Given the description of an element on the screen output the (x, y) to click on. 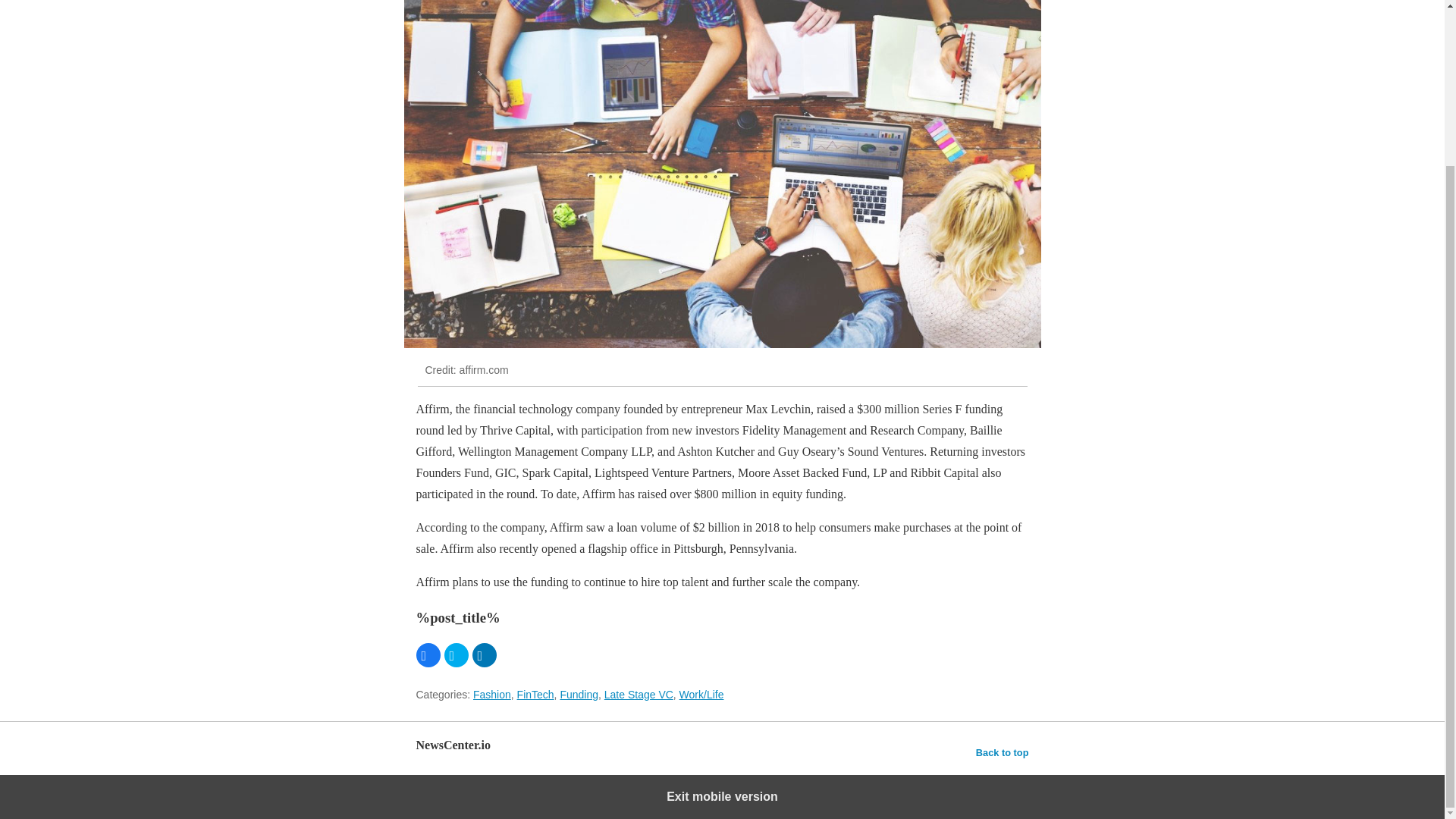
Click to share on Twitter (456, 654)
Back to top (1002, 752)
Late Stage VC (638, 694)
FinTech (535, 694)
Funding (578, 694)
Click to share on Facebook (426, 654)
Fashion (492, 694)
Click to share on LinkedIn (483, 654)
